Given the description of an element on the screen output the (x, y) to click on. 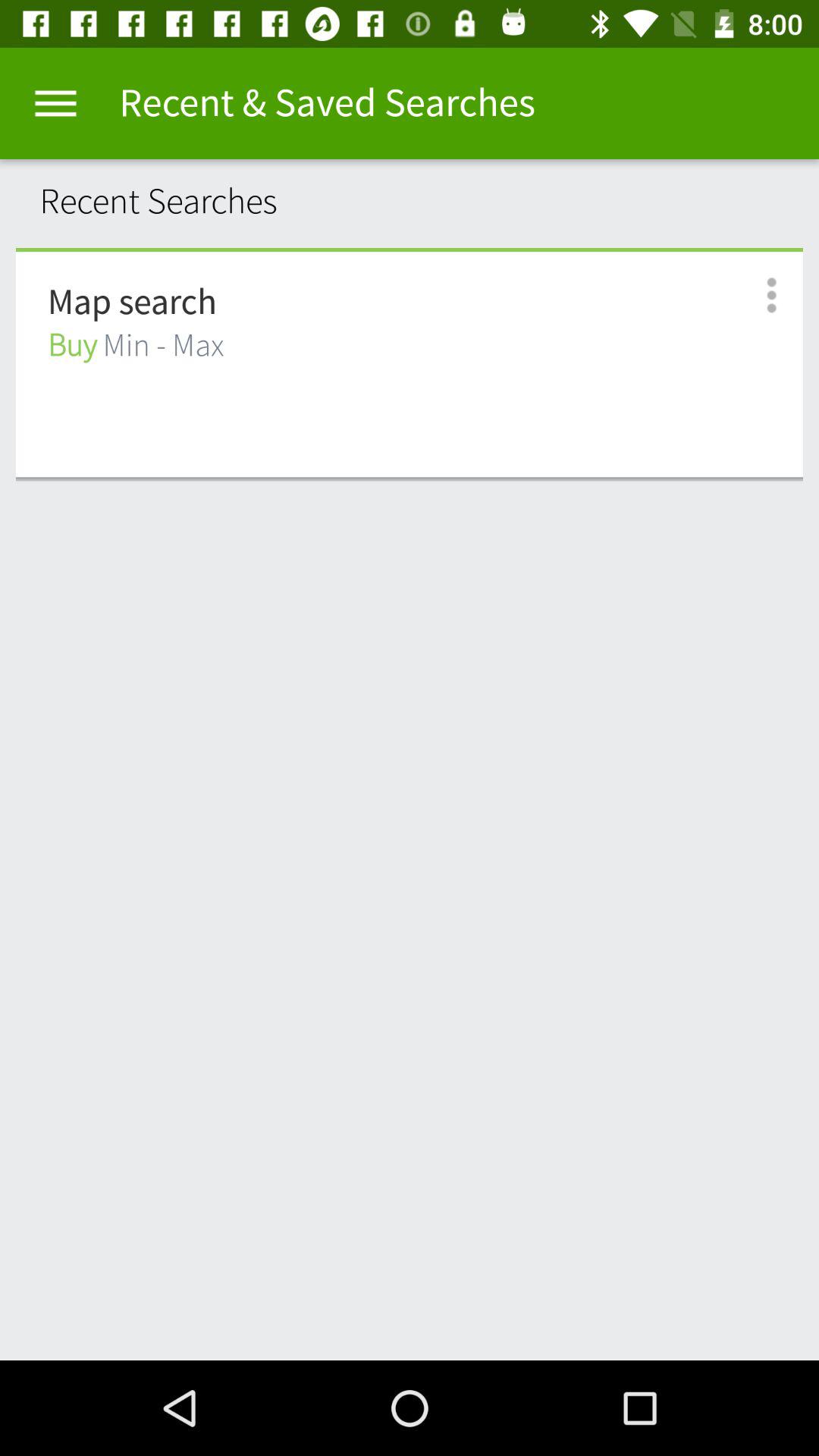
select icon next to the buy min - max item (755, 295)
